Given the description of an element on the screen output the (x, y) to click on. 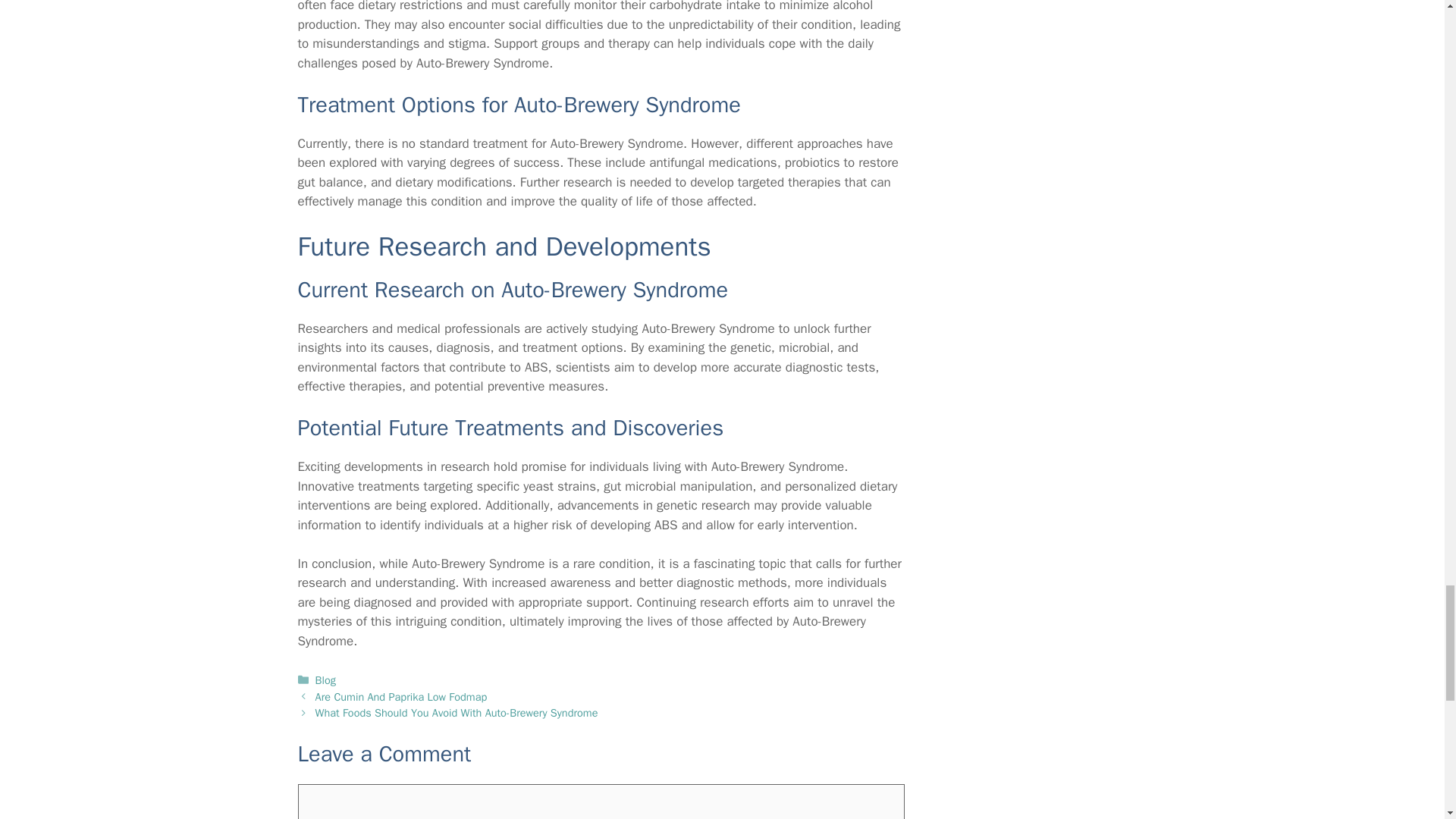
Blog (325, 680)
Are Cumin And Paprika Low Fodmap (401, 696)
